Given the description of an element on the screen output the (x, y) to click on. 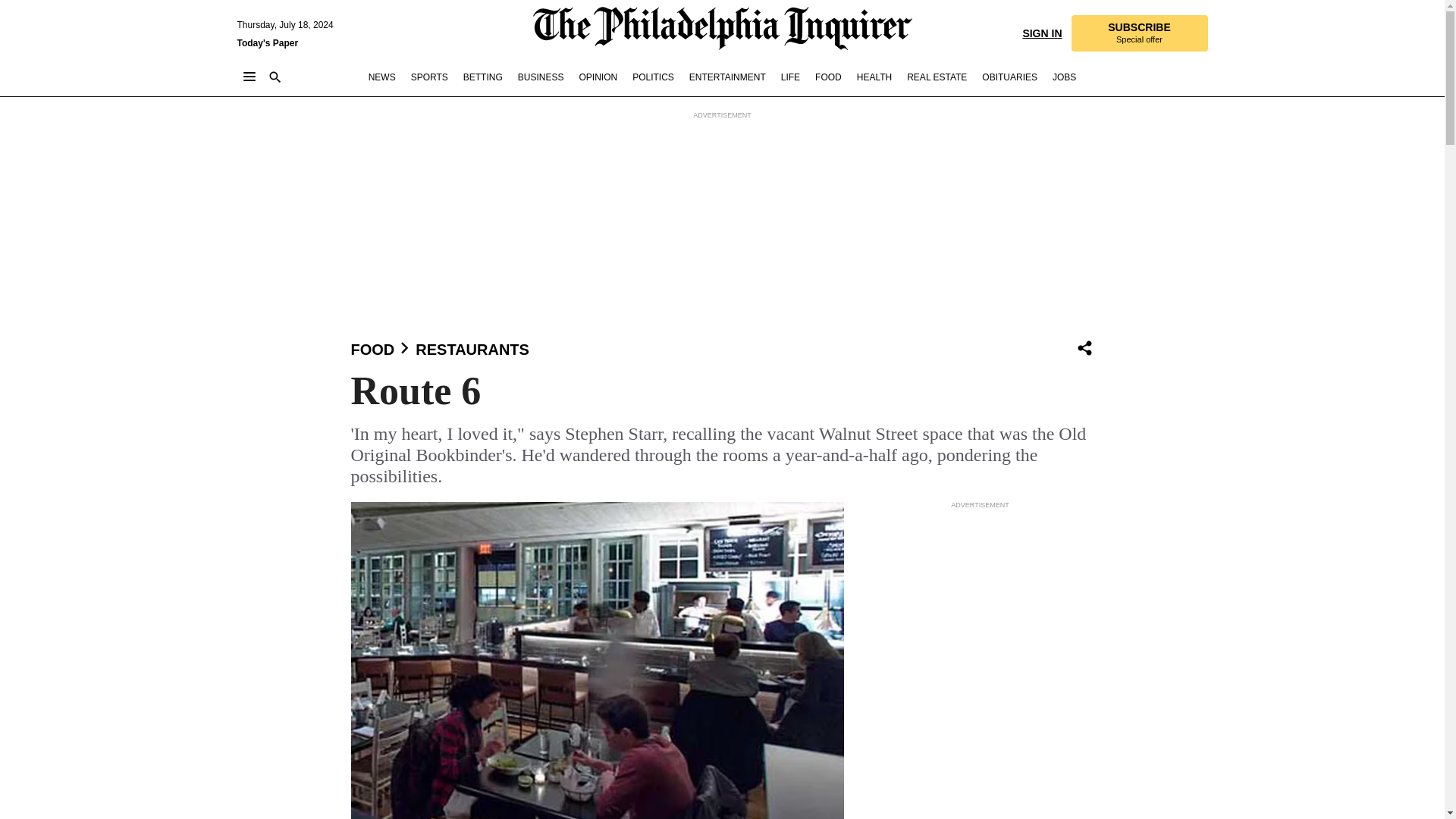
FOOD (372, 348)
JOBS (1063, 77)
3rd party ad content (1138, 33)
ENTERTAINMENT (1008, 77)
BETTING (726, 77)
3rd party ad content (482, 77)
NEWS (979, 606)
BUSINESS (382, 77)
Share Icon (541, 77)
Share Icon (1084, 349)
LIFE (1084, 348)
RESTAURANTS (789, 77)
POLITICS (471, 348)
